Given the description of an element on the screen output the (x, y) to click on. 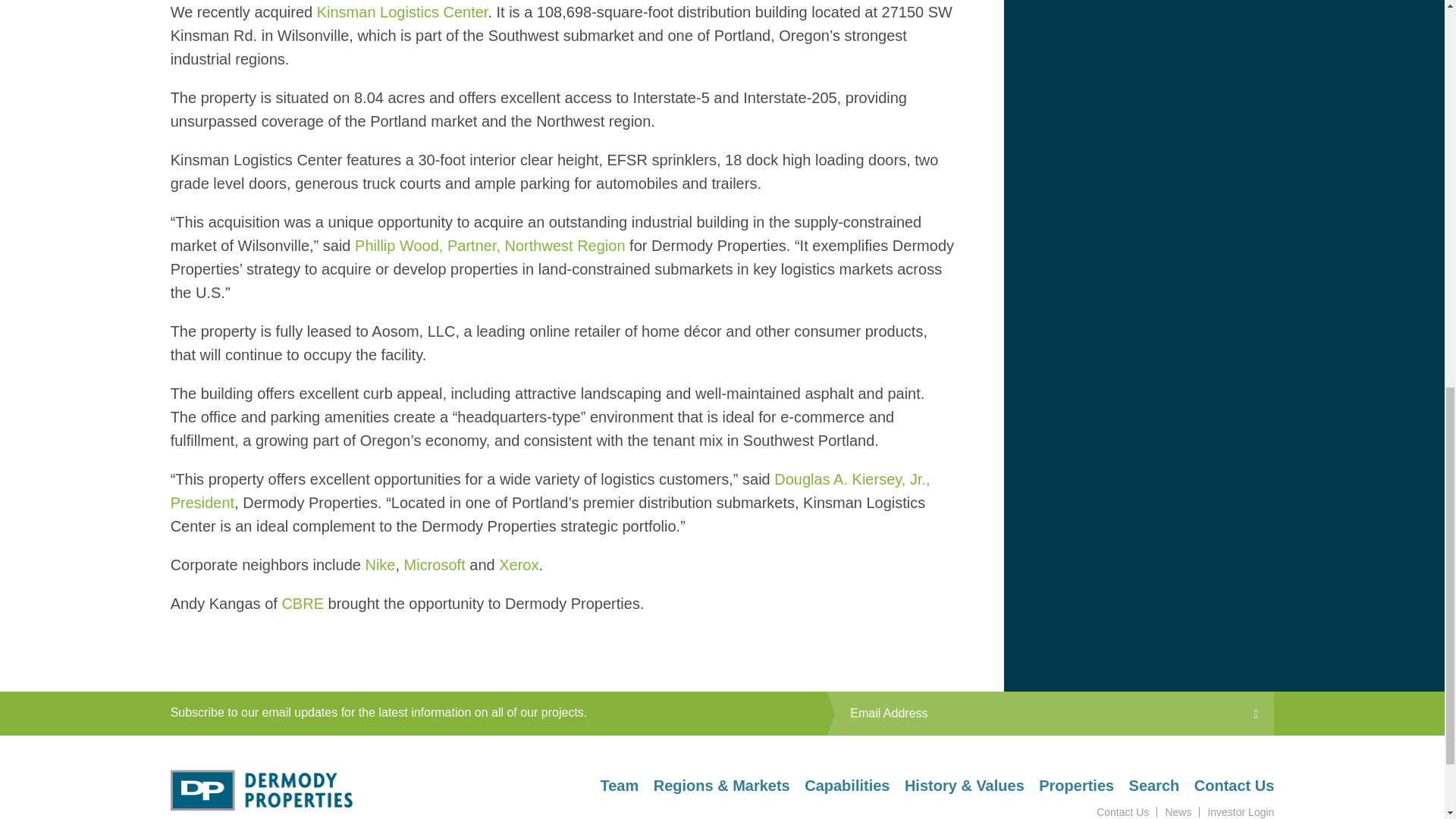
Microsoft (434, 564)
Phillip Wood (489, 245)
Douglas A. Kiersey (550, 490)
Kinsman Logistics Center (402, 12)
Nike (379, 564)
Xerox (518, 564)
CBRE (302, 603)
